Given the description of an element on the screen output the (x, y) to click on. 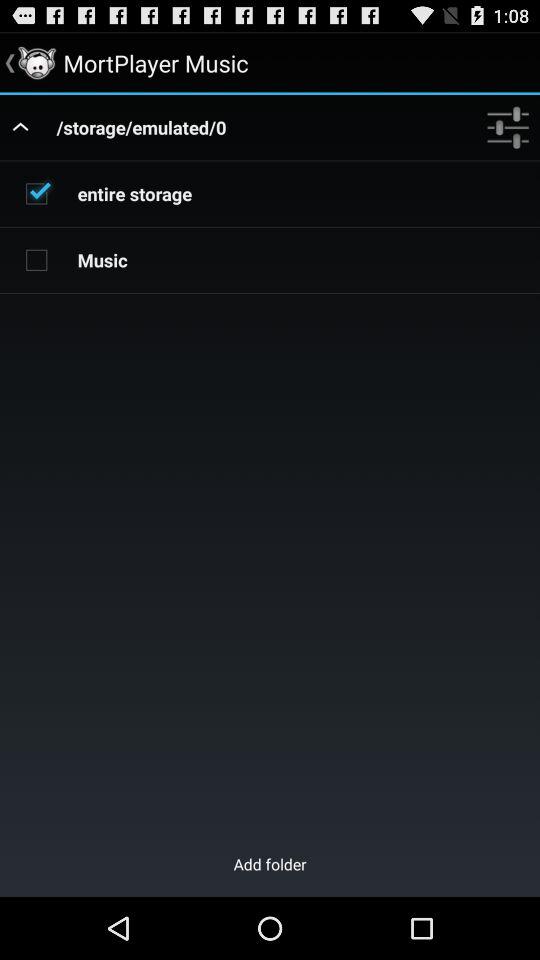
uncheck box (36, 193)
